Given the description of an element on the screen output the (x, y) to click on. 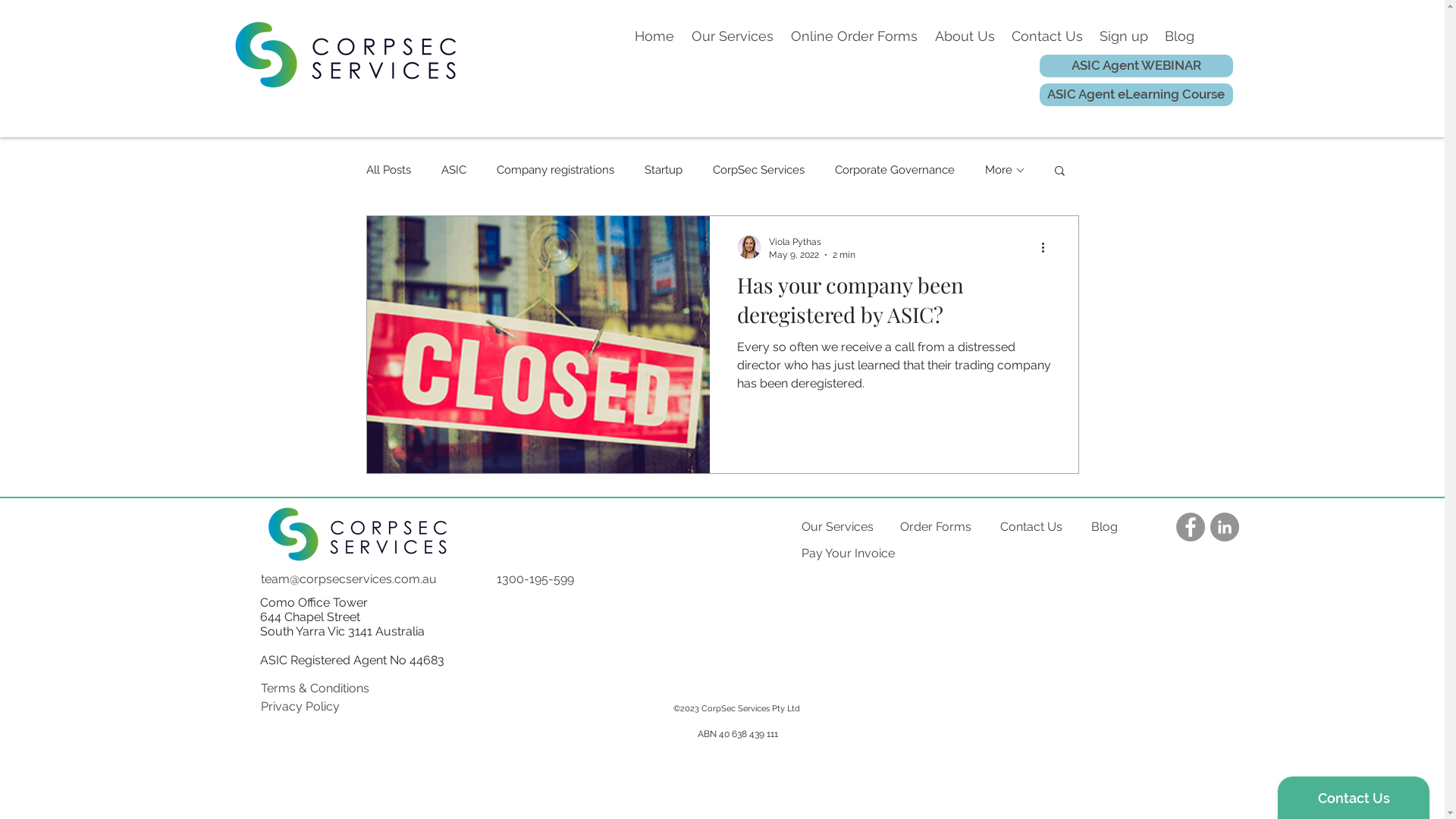
Contact Us Element type: text (1046, 35)
Terms & Conditions Element type: text (314, 688)
ASIC Element type: text (453, 169)
Our Services Element type: text (837, 526)
All Posts Element type: text (387, 169)
team@corpsecservices.com.au Element type: text (359, 579)
Order Forms Element type: text (935, 526)
About Us Element type: text (964, 35)
Online Order Forms Element type: text (854, 35)
Company registrations Element type: text (554, 169)
Privacy Policy Element type: text (313, 706)
Startup Element type: text (663, 169)
ASIC Agent WEBINAR Element type: text (1135, 65)
Corporate Governance Element type: text (893, 169)
Home Element type: text (654, 35)
Our Services Element type: text (731, 35)
Blog Element type: text (1178, 35)
Contact Us Element type: text (1035, 526)
Pay Your Invoice Element type: text (849, 553)
ASIC Agent eLearning Course Element type: text (1135, 94)
1300-195-599 Element type: text (539, 579)
CorpSec Services Element type: text (758, 169)
Sign up Element type: text (1122, 35)
Has your company been deregistered by ASIC? Element type: text (894, 303)
Blog Element type: text (1126, 526)
